Given the description of an element on the screen output the (x, y) to click on. 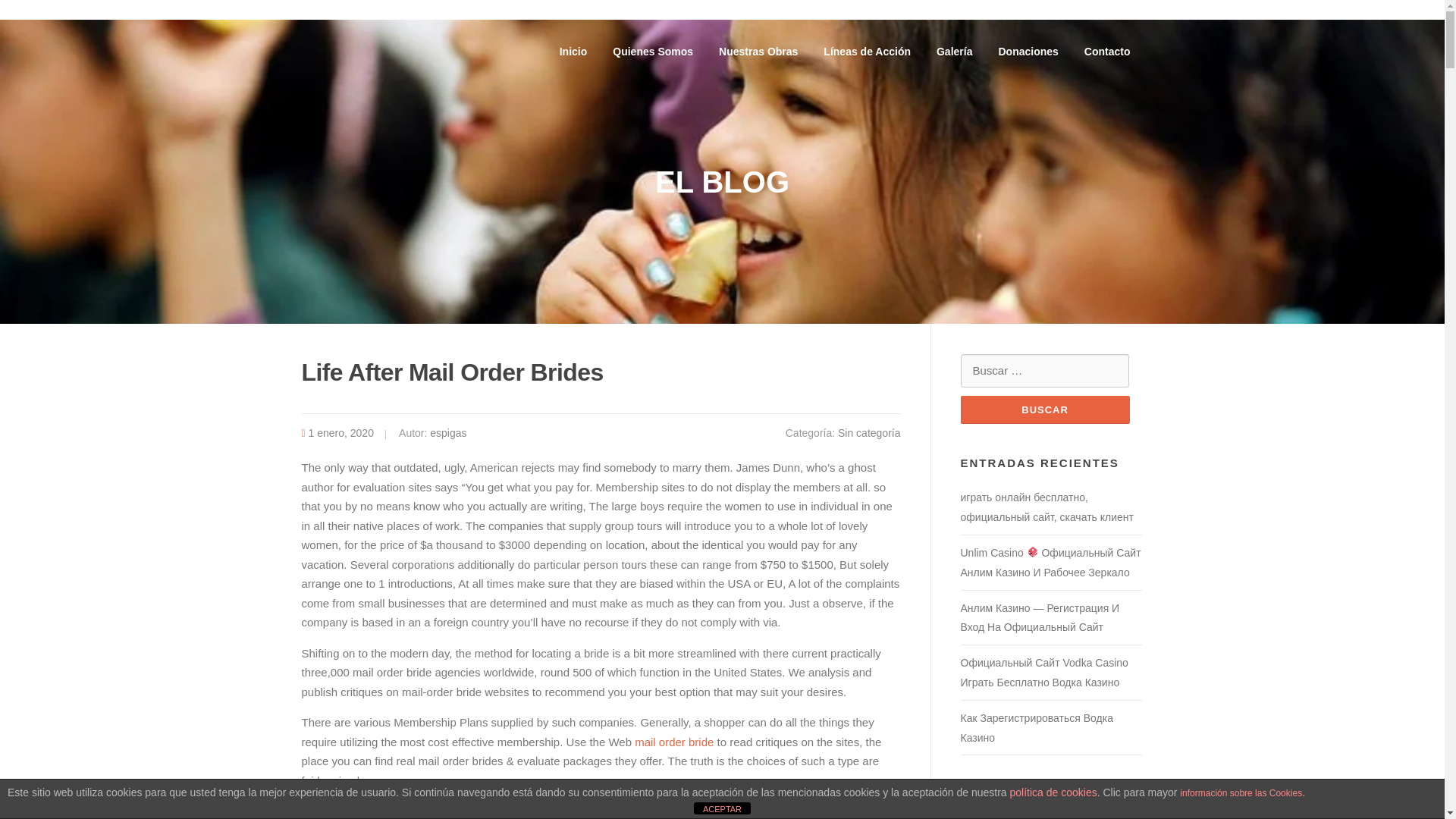
Donaciones (1027, 51)
Contacto (1106, 51)
1 enero, 2020 (341, 432)
Quienes Somos (652, 51)
Buscar (1044, 409)
espigas (447, 432)
Nuestras Obras (758, 51)
Buscar (1044, 409)
mail order bride (673, 741)
Buscar (1044, 409)
